Given the description of an element on the screen output the (x, y) to click on. 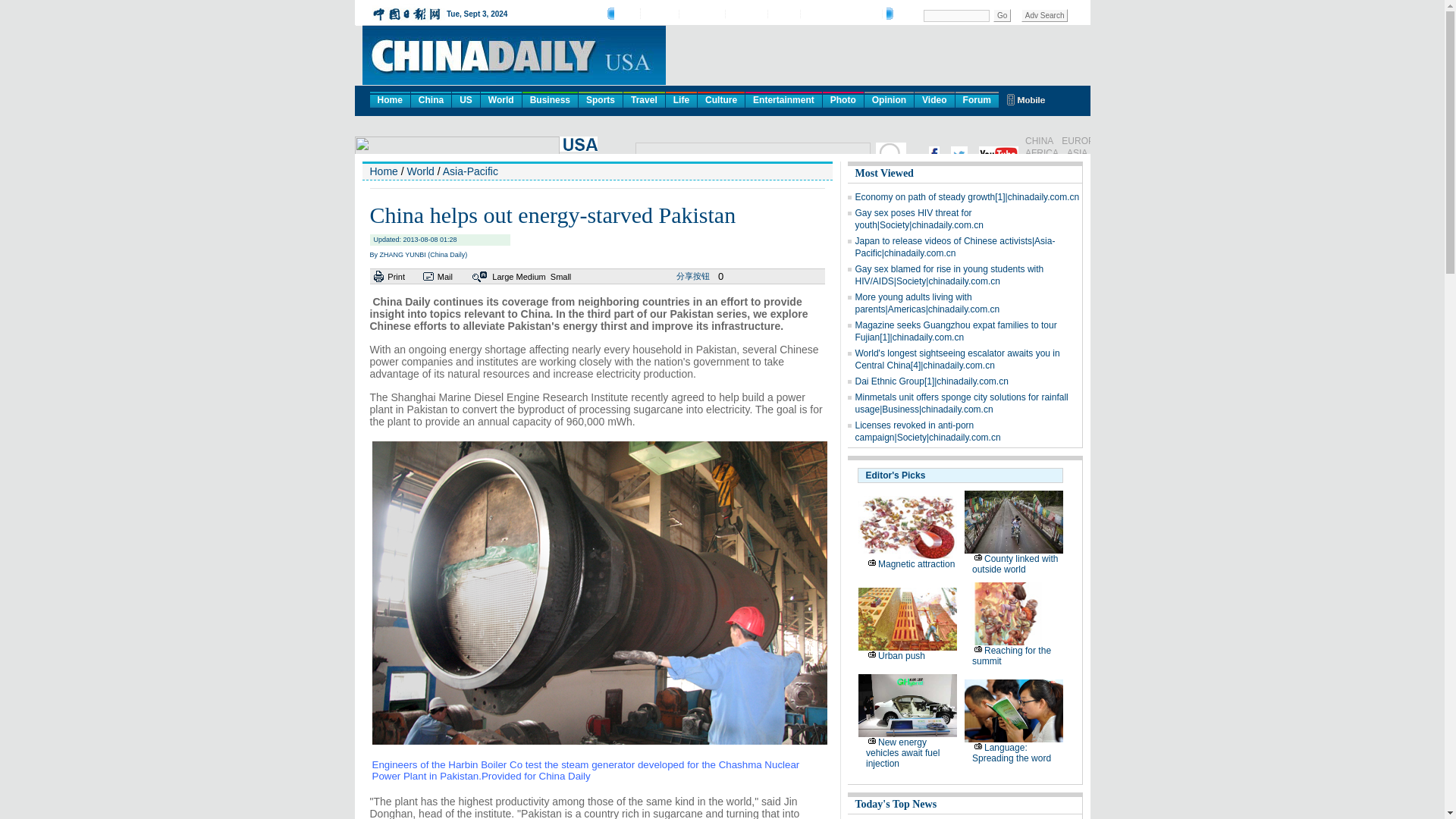
China (430, 99)
Home (389, 99)
Business (550, 99)
US (465, 99)
Travel (644, 99)
World (500, 99)
Sports (600, 99)
